Given the description of an element on the screen output the (x, y) to click on. 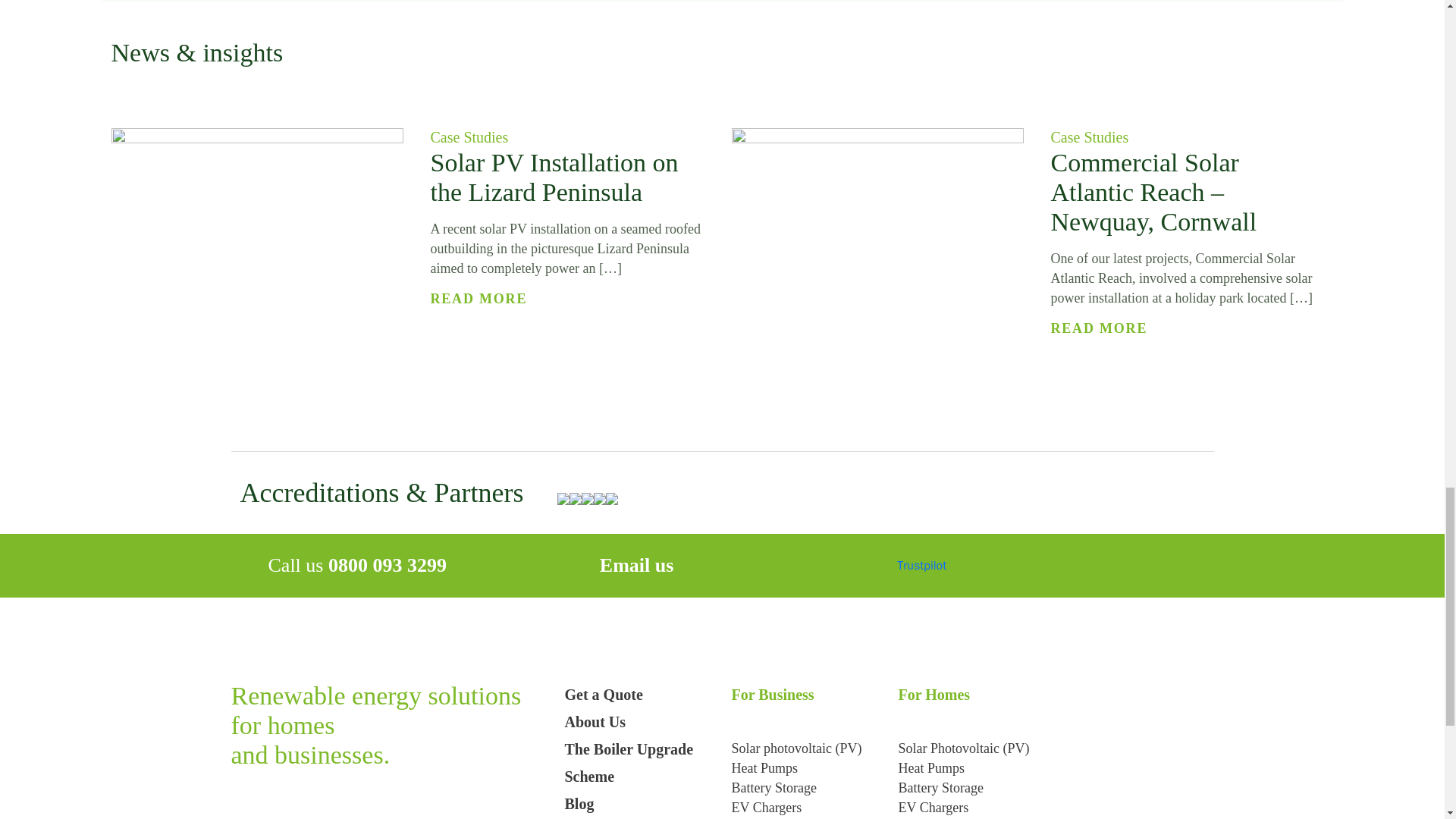
READ MORE (478, 298)
READ MORE (1099, 328)
